Given the description of an element on the screen output the (x, y) to click on. 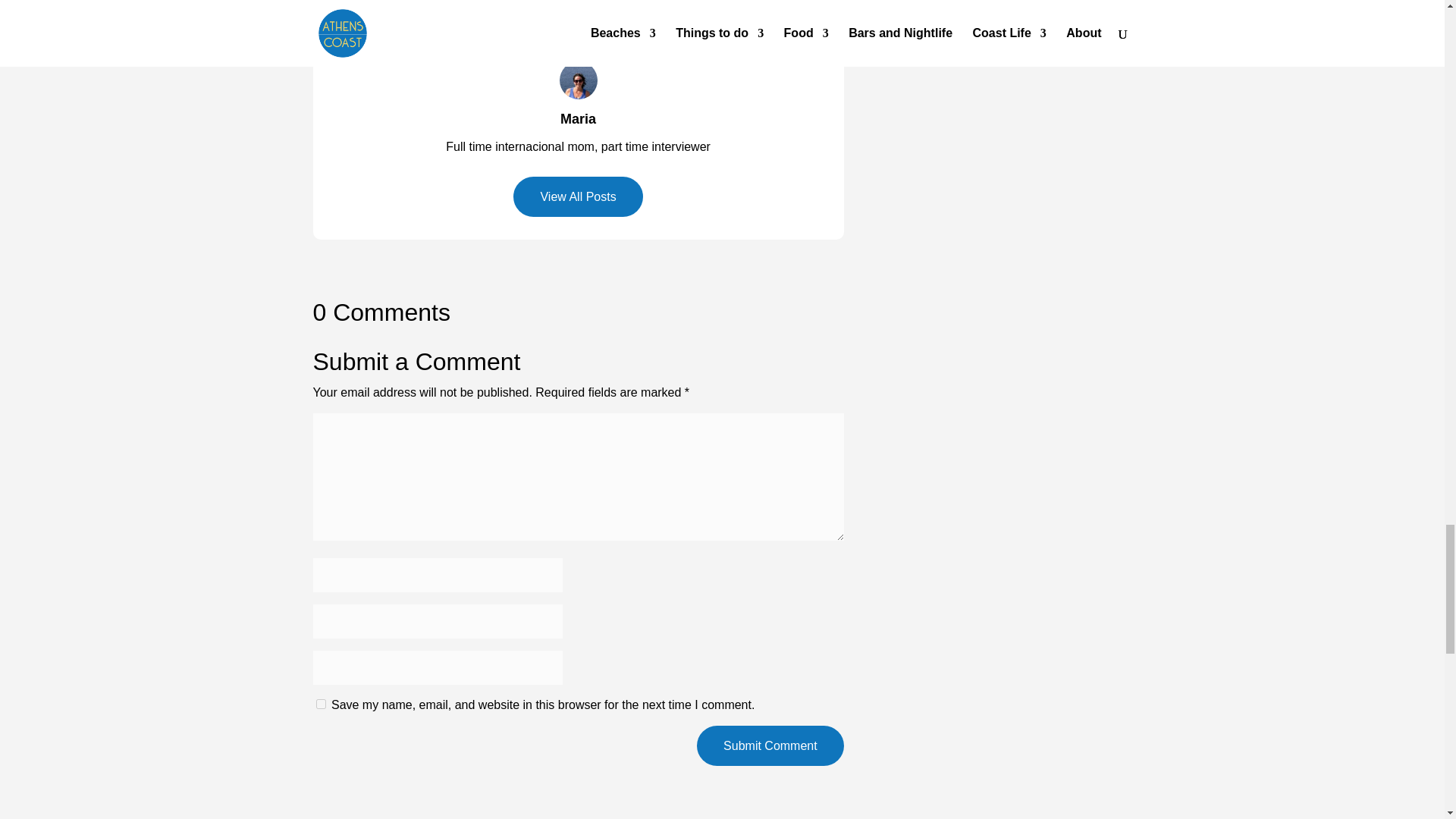
yes (319, 704)
